Given the description of an element on the screen output the (x, y) to click on. 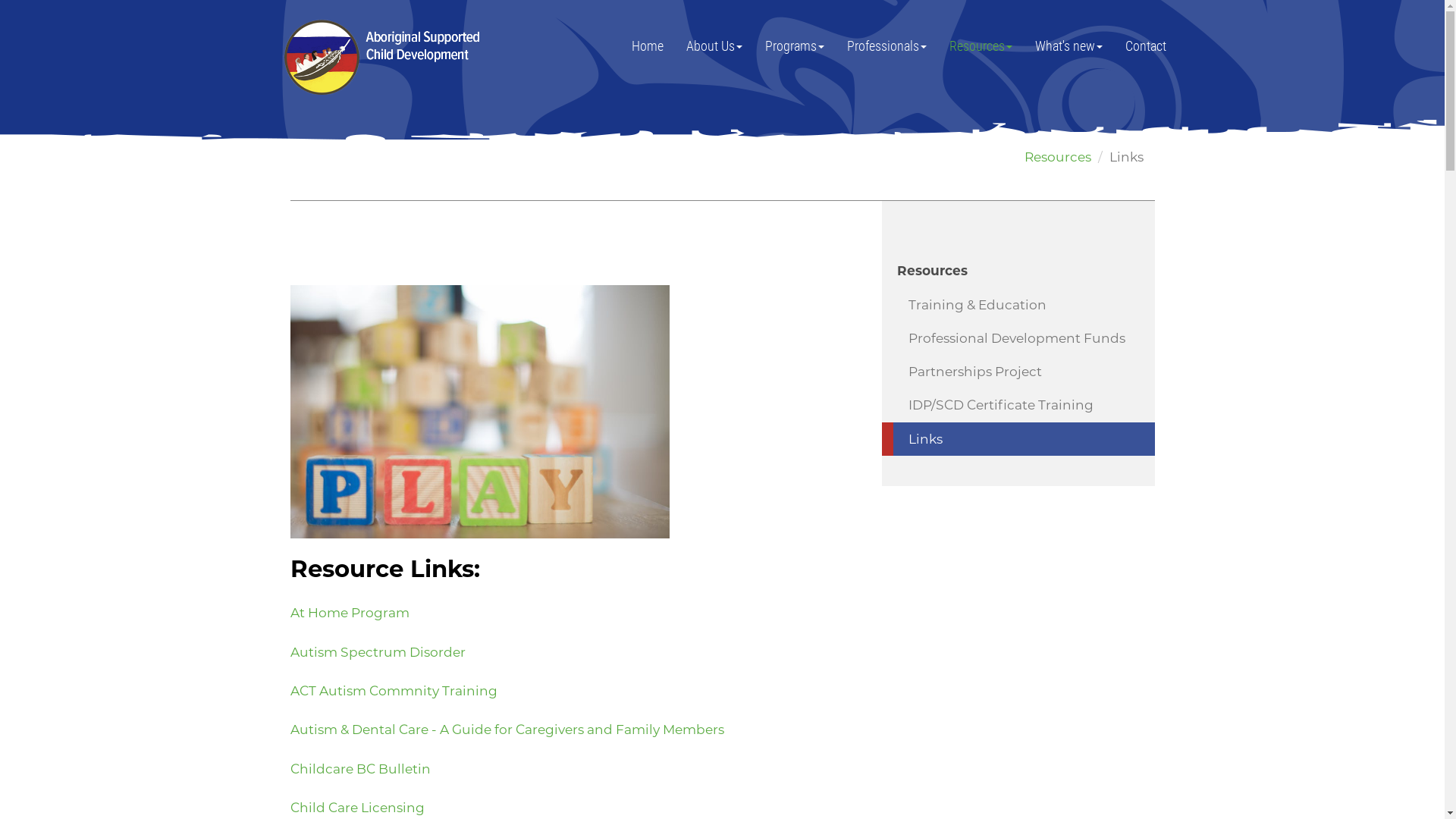
Child Care Licensing Element type: text (356, 807)
Home Element type: text (647, 45)
Professionals Element type: text (886, 45)
What's new Element type: text (1068, 45)
Programs Element type: text (794, 45)
At Home Program Element type: text (348, 612)
Links Element type: text (1017, 438)
Autism Spectrum Disorder Element type: text (376, 651)
Resources Element type: text (1056, 156)
About Us Element type: text (713, 45)
Childcare BC Bulletin Element type: text (359, 768)
Resources Element type: text (979, 45)
Partnerships Project Element type: text (1017, 371)
Resources Element type: text (1018, 270)
ACT Autism Commnity Training  Element type: text (394, 690)
Contact Element type: text (1144, 45)
Training & Education Element type: text (1017, 304)
IDP/SCD Certificate Training Element type: text (1017, 404)
Professional Development Funds Element type: text (1017, 337)
